Given the description of an element on the screen output the (x, y) to click on. 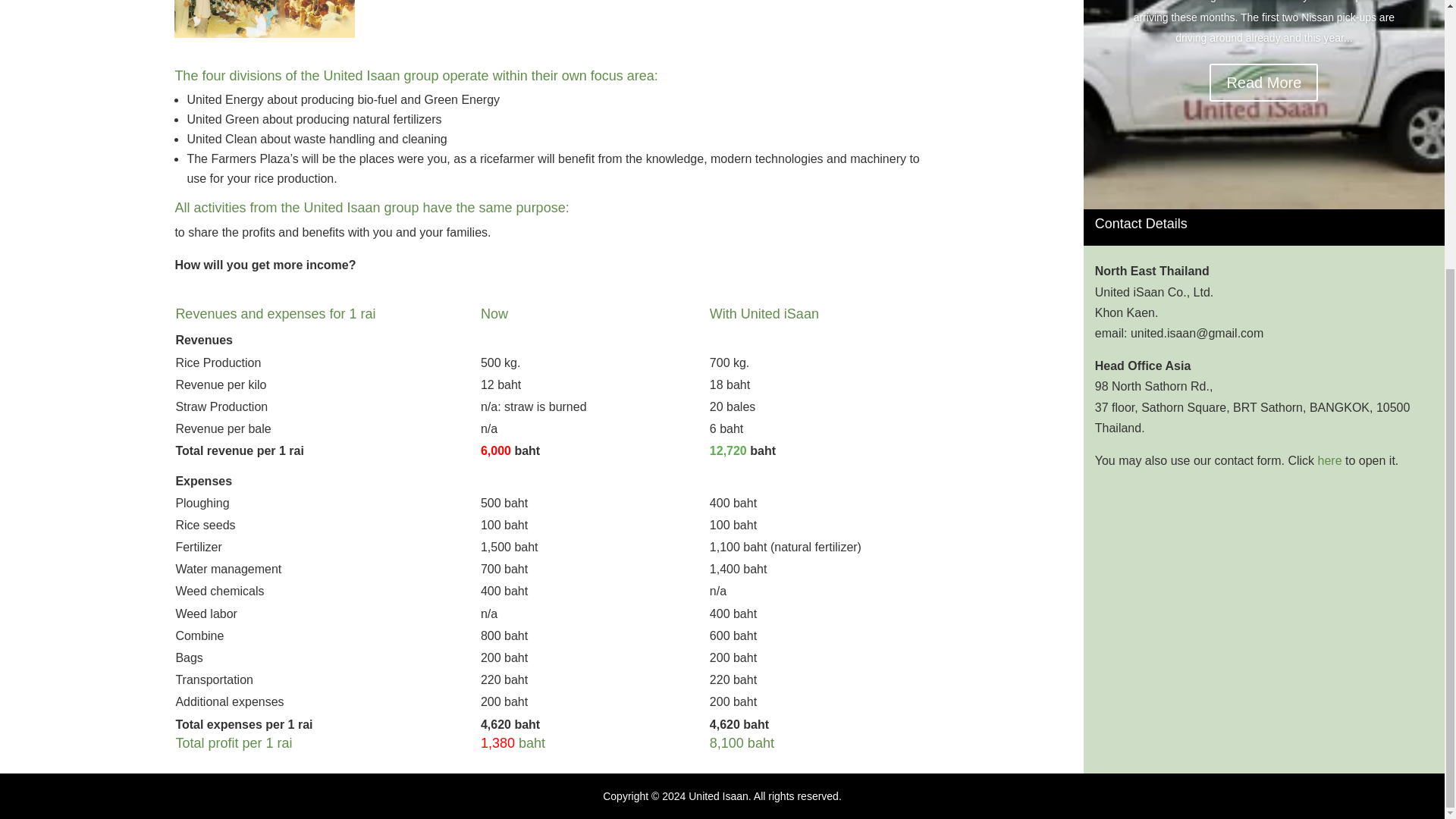
Bhumibol (263, 18)
here (1329, 460)
Read More (1263, 82)
